Given the description of an element on the screen output the (x, y) to click on. 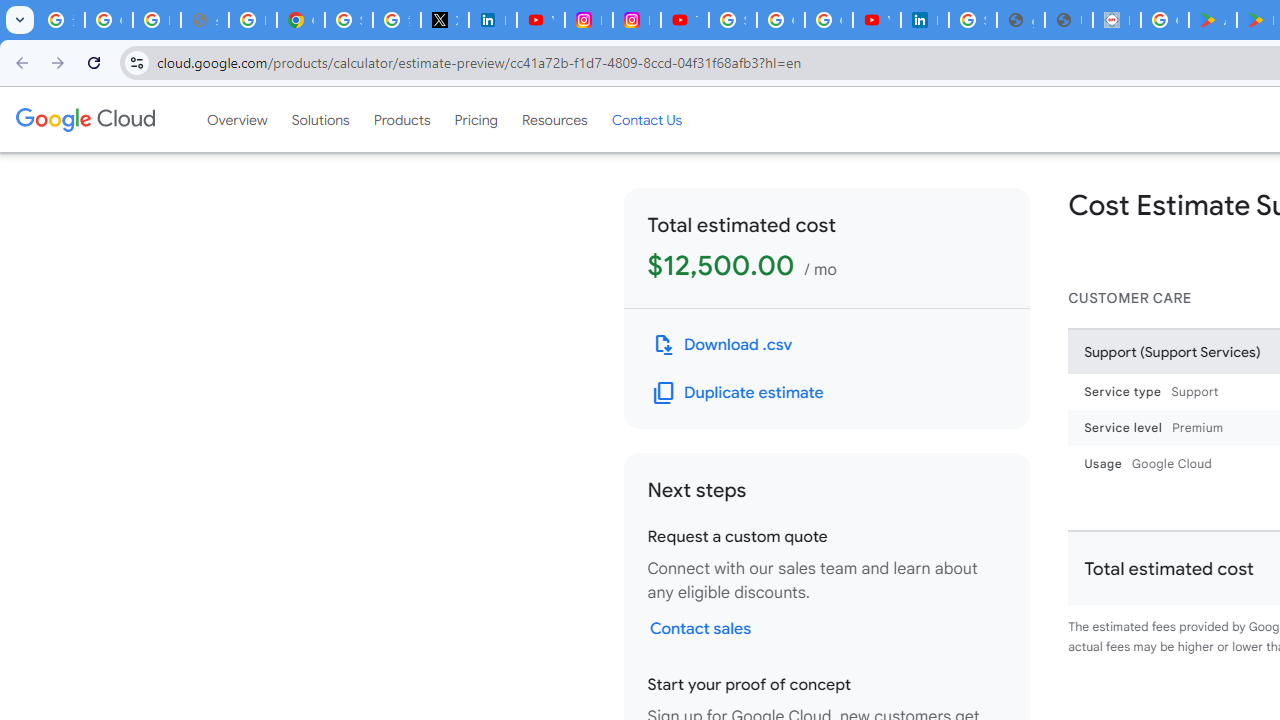
Duplicate this estimate (738, 392)
Contact sales (699, 628)
User Details (1068, 20)
Download .csv file (722, 344)
Google Cloud (84, 119)
Data Privacy Framework (1116, 20)
Privacy Help Center - Policies Help (252, 20)
